Given the description of an element on the screen output the (x, y) to click on. 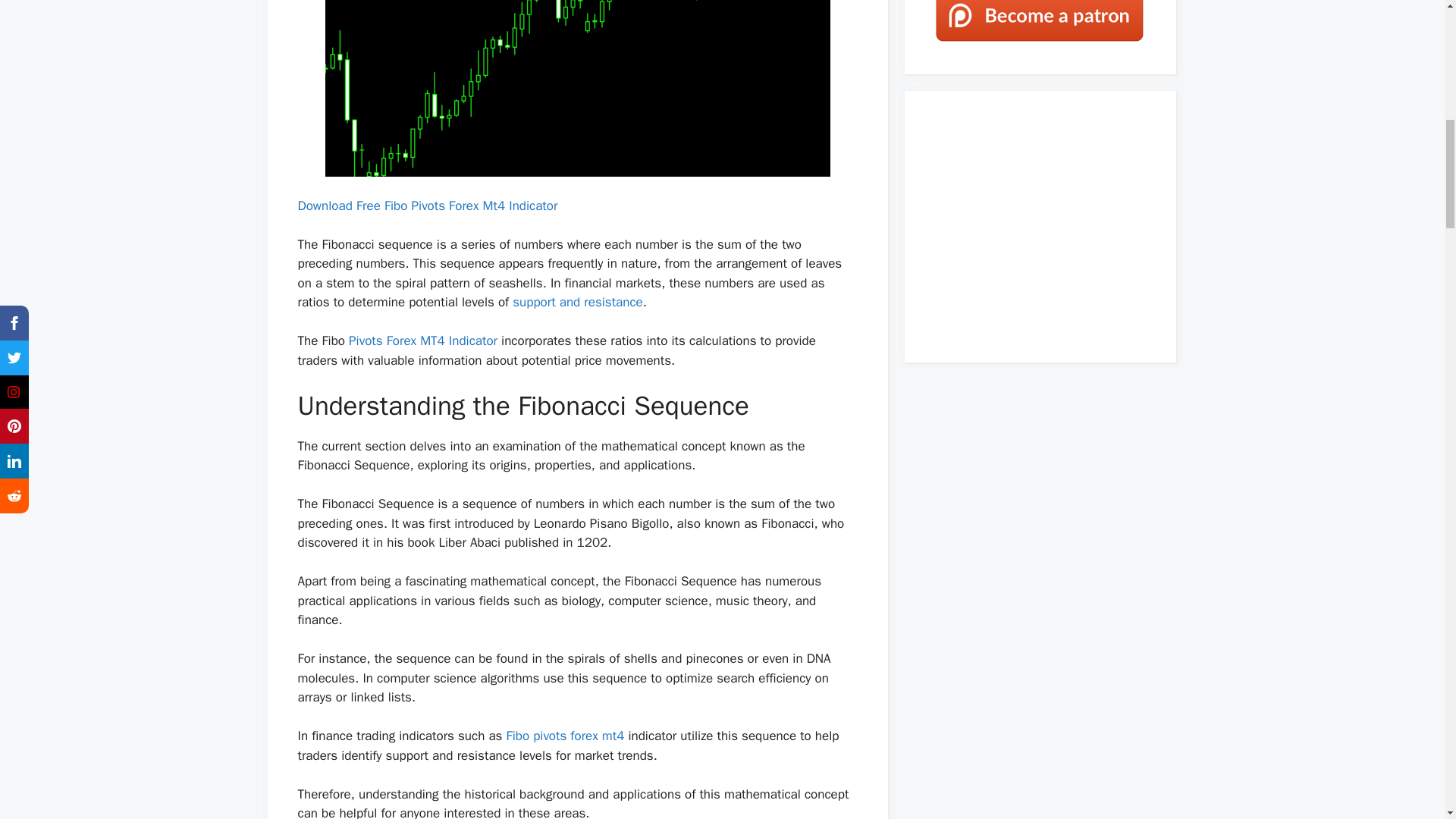
Download Free Fibo Pivots Forex Mt4 Indicator (427, 205)
Pivots Forex MT4 Indicator (423, 340)
support and resistance (577, 302)
Fibo pivots forex mt4 (565, 735)
